Given the description of an element on the screen output the (x, y) to click on. 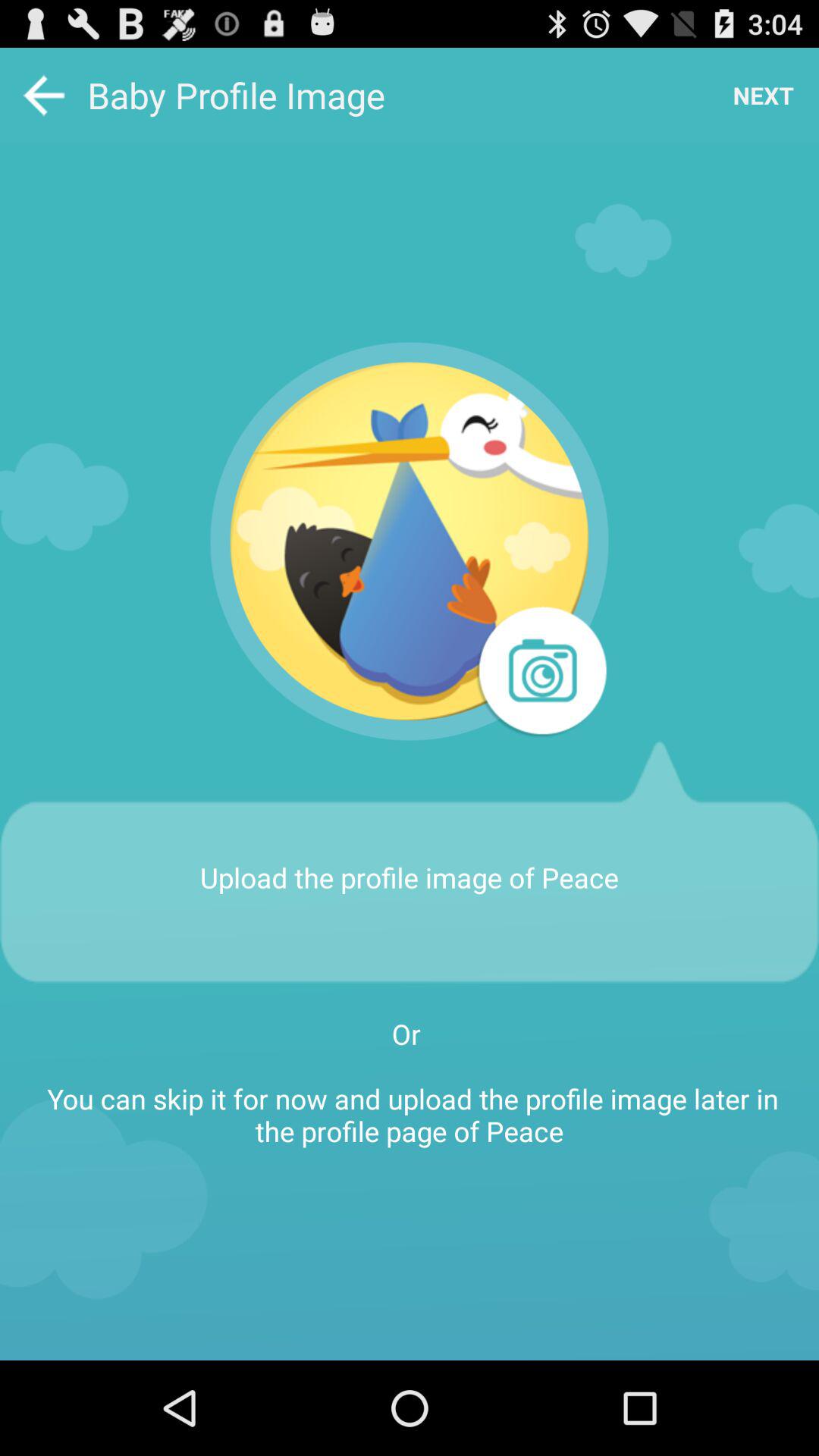
add photo (540, 672)
